Given the description of an element on the screen output the (x, y) to click on. 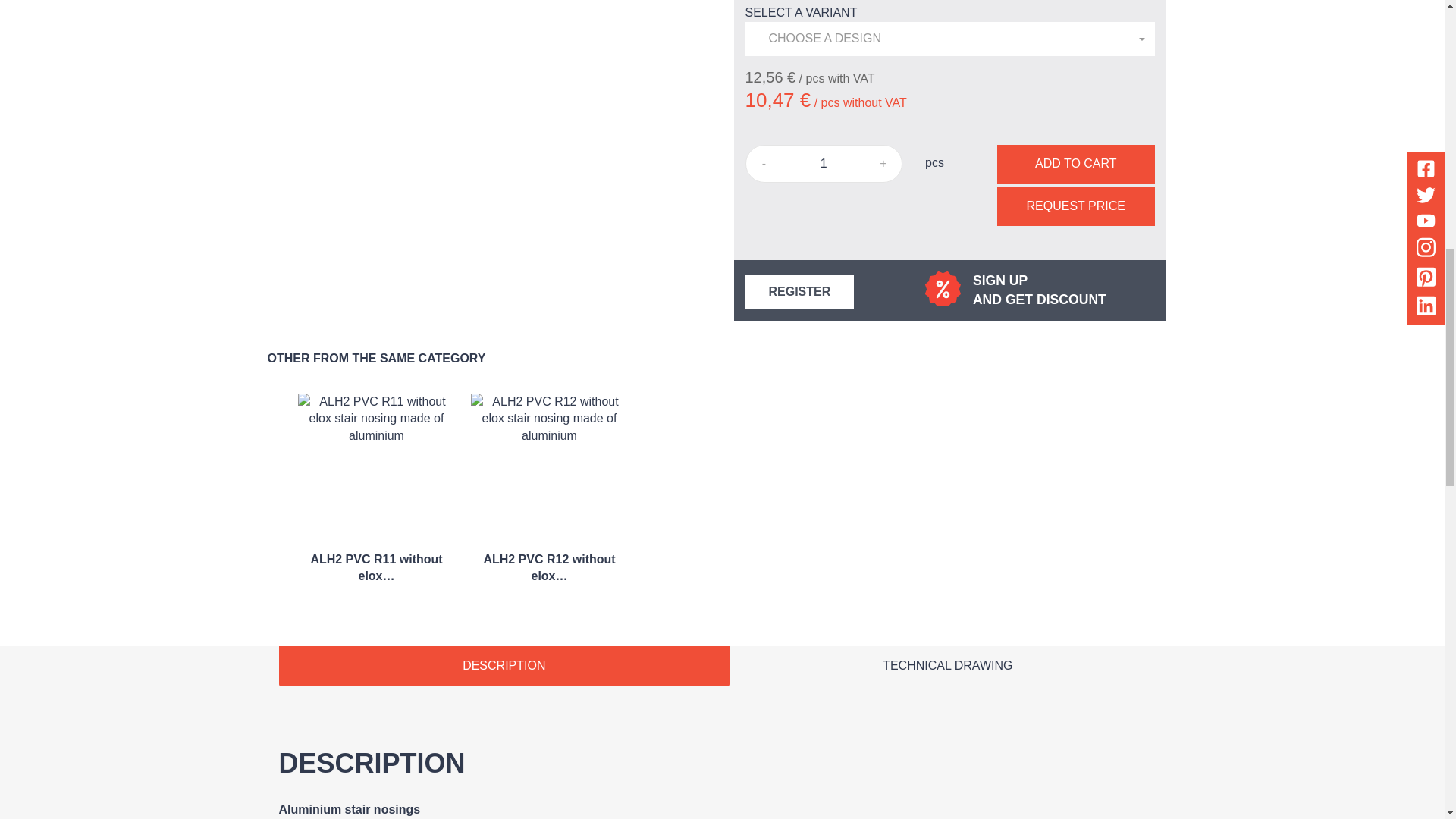
1 (823, 163)
